Given the description of an element on the screen output the (x, y) to click on. 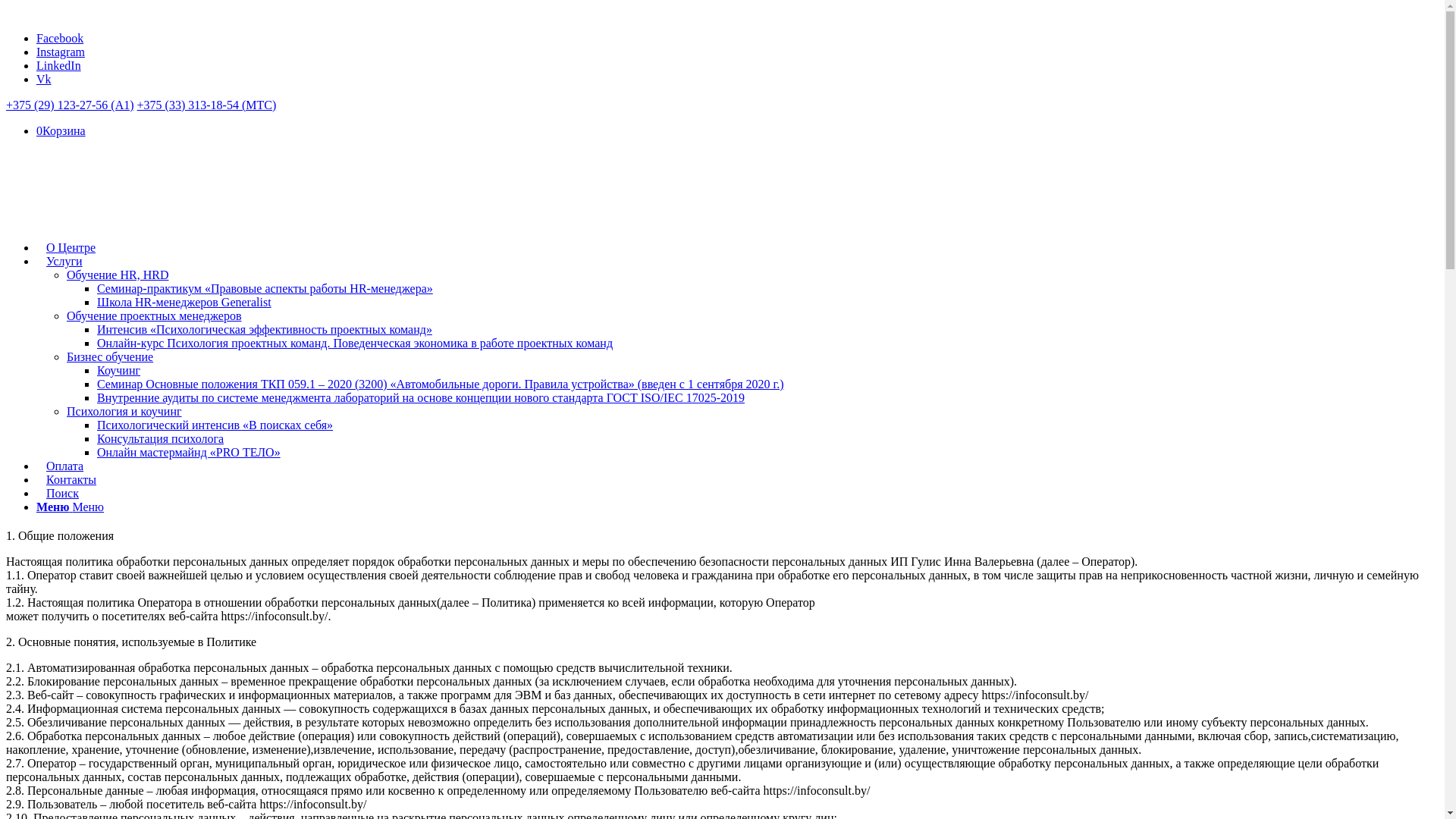
LinkedIn Element type: text (58, 65)
+375 (29) 123-27-56 (A1) Element type: text (70, 104)
Facebook Element type: text (59, 37)
Vk Element type: text (43, 78)
Instagram Element type: text (60, 51)
